Given the description of an element on the screen output the (x, y) to click on. 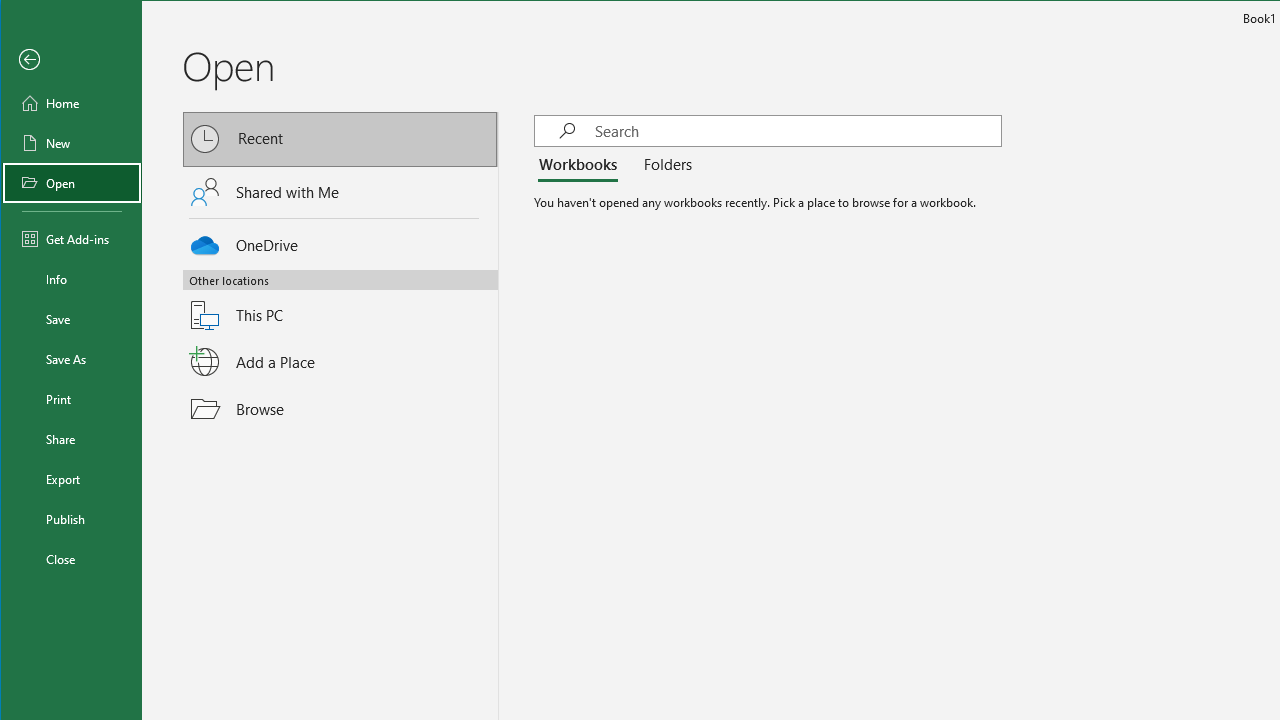
Publish (72, 518)
Export (72, 478)
Workbooks (581, 165)
Info (72, 278)
Search (797, 130)
Get Add-ins (72, 238)
Add a Place (341, 361)
Browse (341, 409)
